Given the description of an element on the screen output the (x, y) to click on. 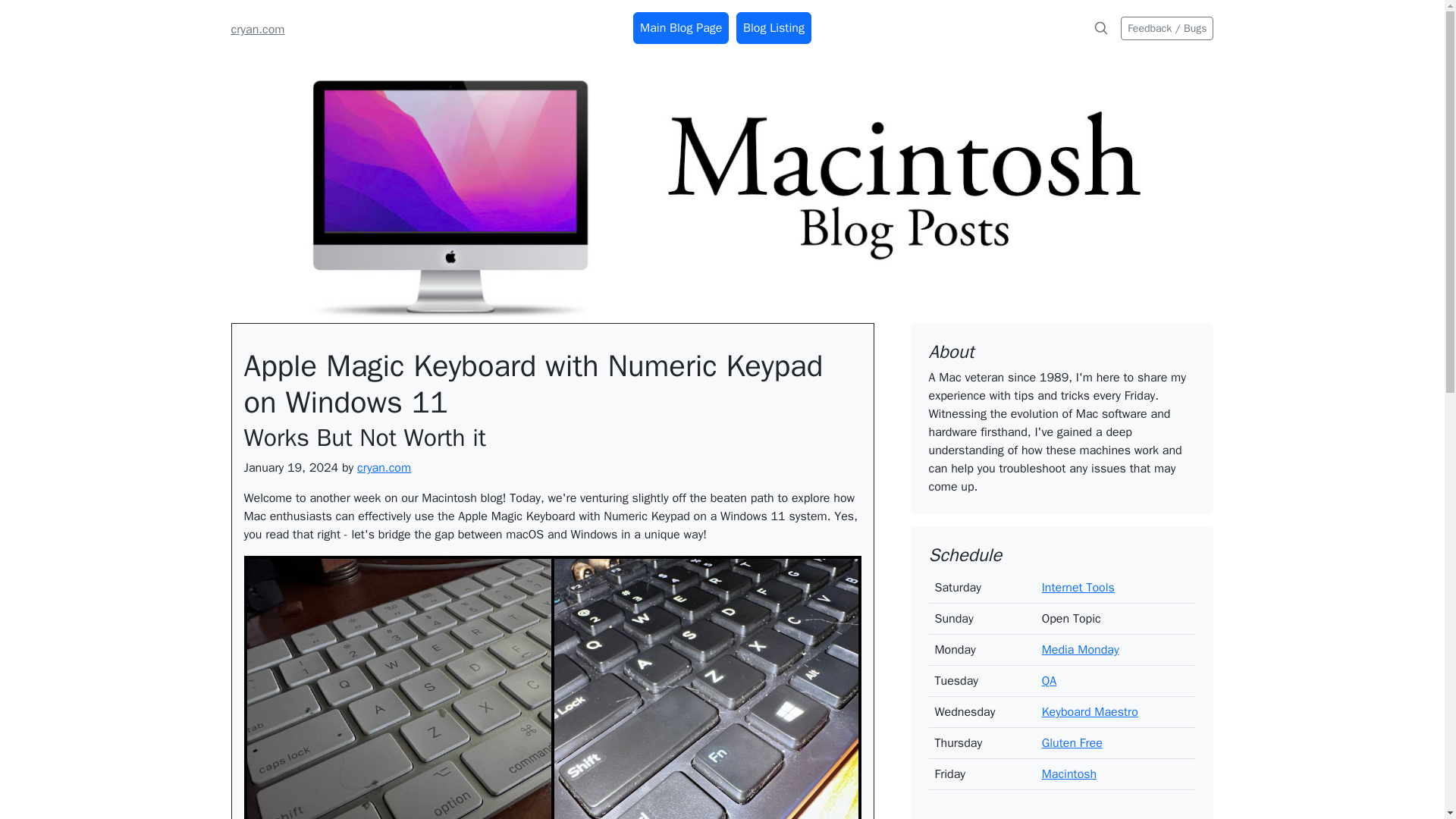
Search (1100, 28)
cryan.com (256, 29)
Blog Listing (773, 28)
Gluten Free (1072, 743)
Main Blog Page (681, 28)
Keyboard Maestro (1090, 711)
QA (1049, 680)
Internet Tools (1078, 587)
Media Monday (1080, 649)
Macintosh (1069, 774)
